Given the description of an element on the screen output the (x, y) to click on. 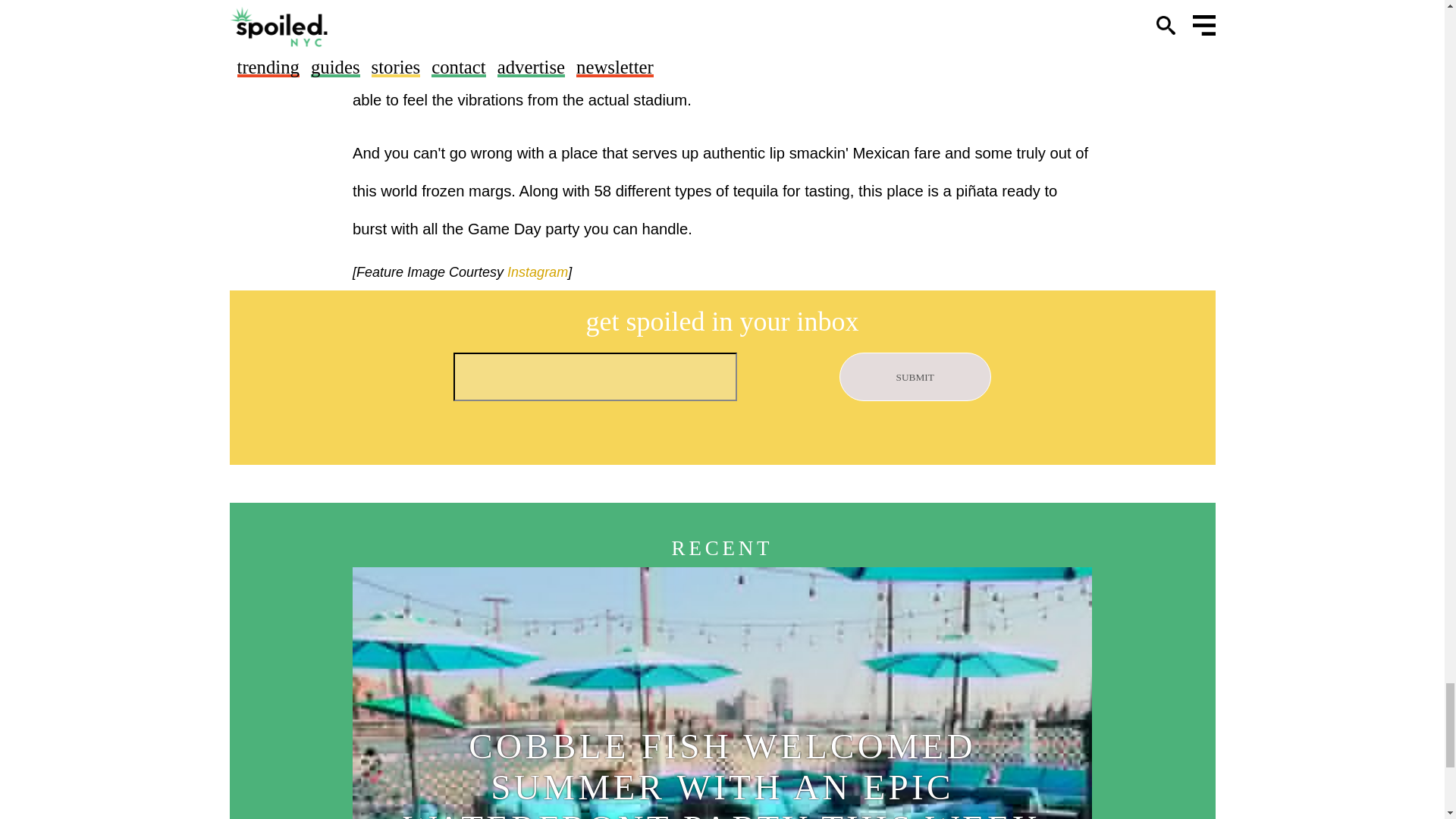
SUBMIT (915, 376)
Instagram (535, 272)
